Given the description of an element on the screen output the (x, y) to click on. 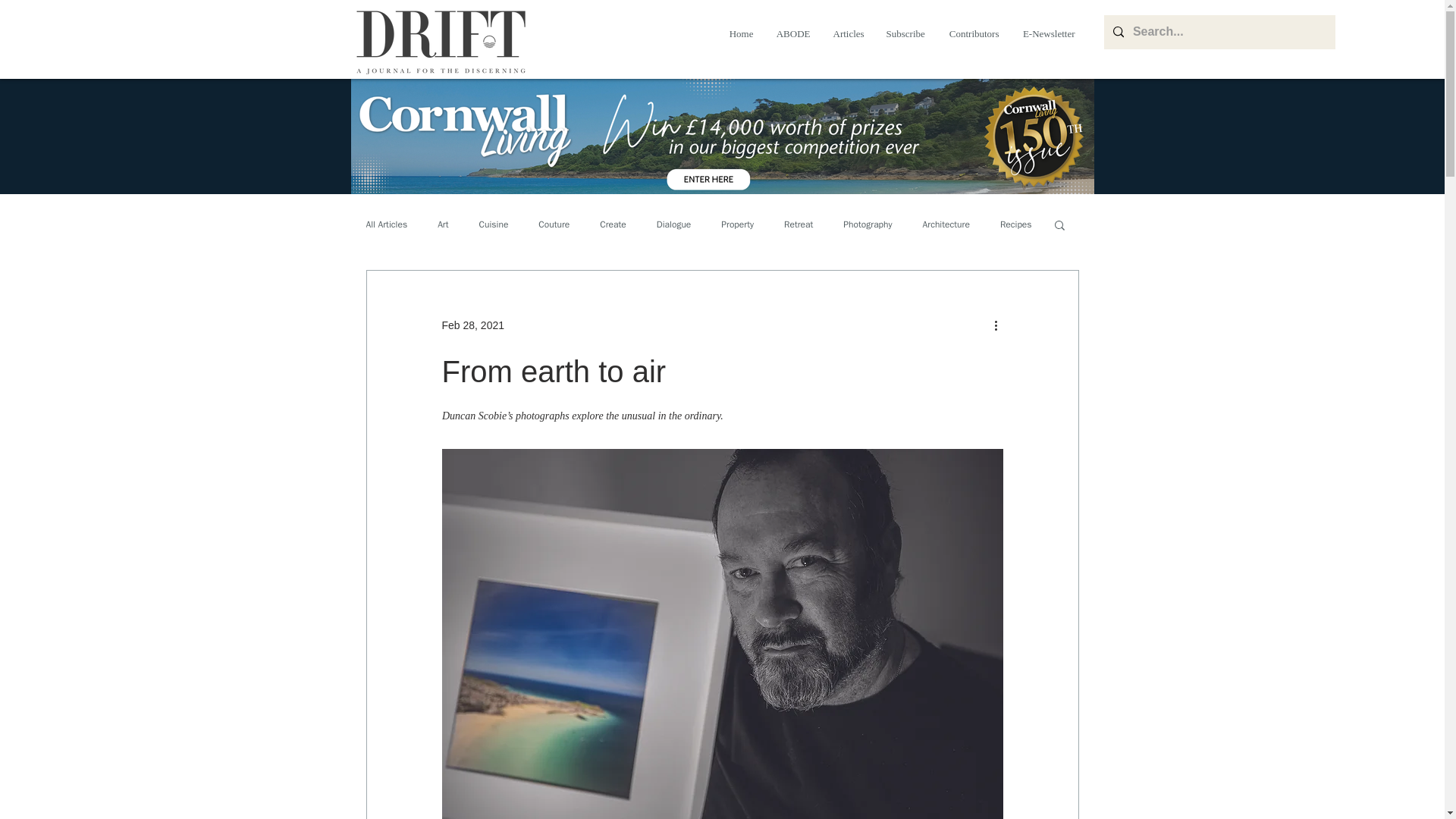
Dialogue (673, 224)
Property (737, 224)
Contributors (973, 34)
All Articles (386, 224)
Couture (553, 224)
Photography (867, 224)
Subscribe (905, 34)
Create (612, 224)
Architecture (946, 224)
Feb 28, 2021 (472, 324)
